Given the description of an element on the screen output the (x, y) to click on. 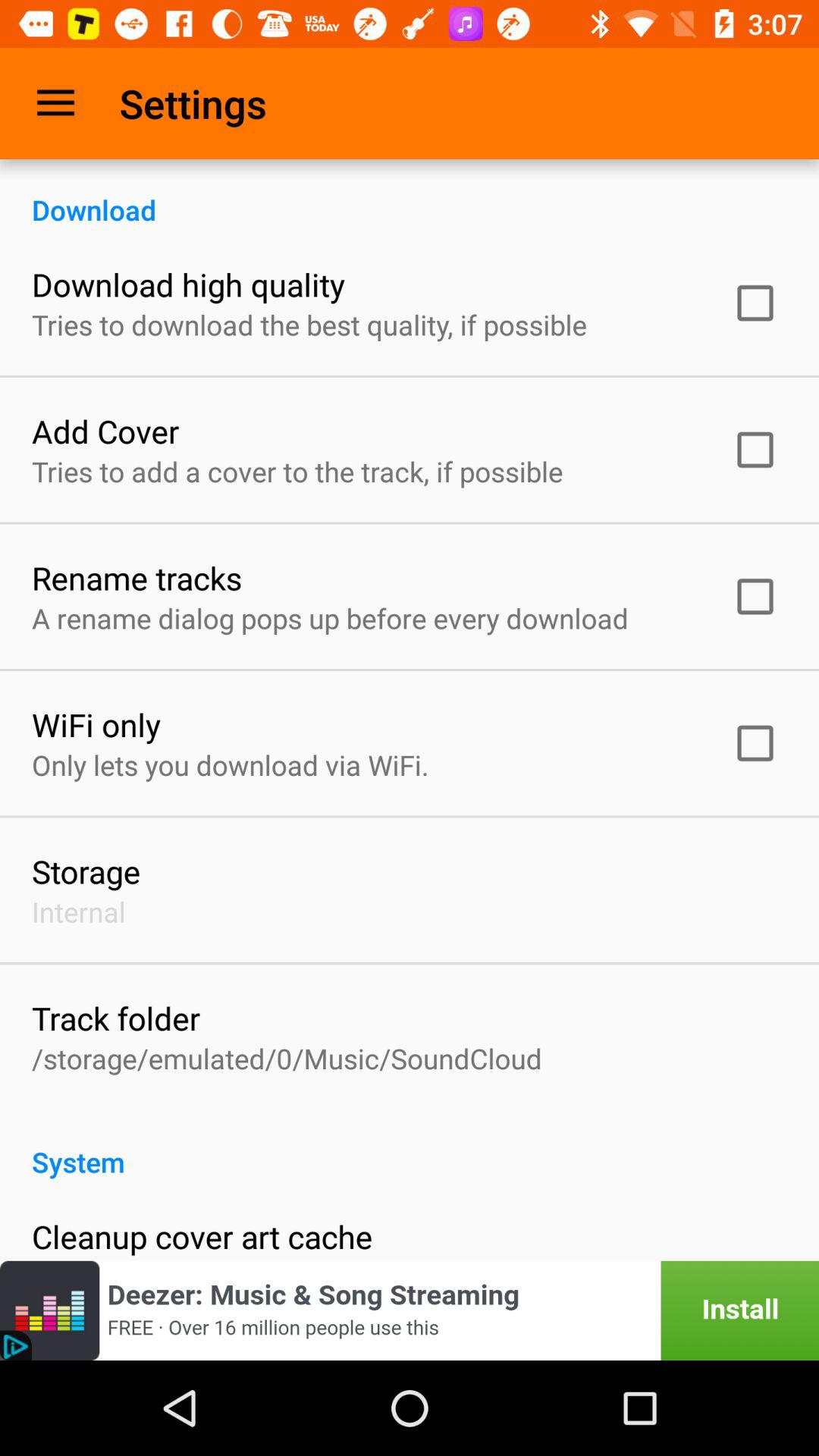
turn on icon below the system icon (201, 1236)
